Given the description of an element on the screen output the (x, y) to click on. 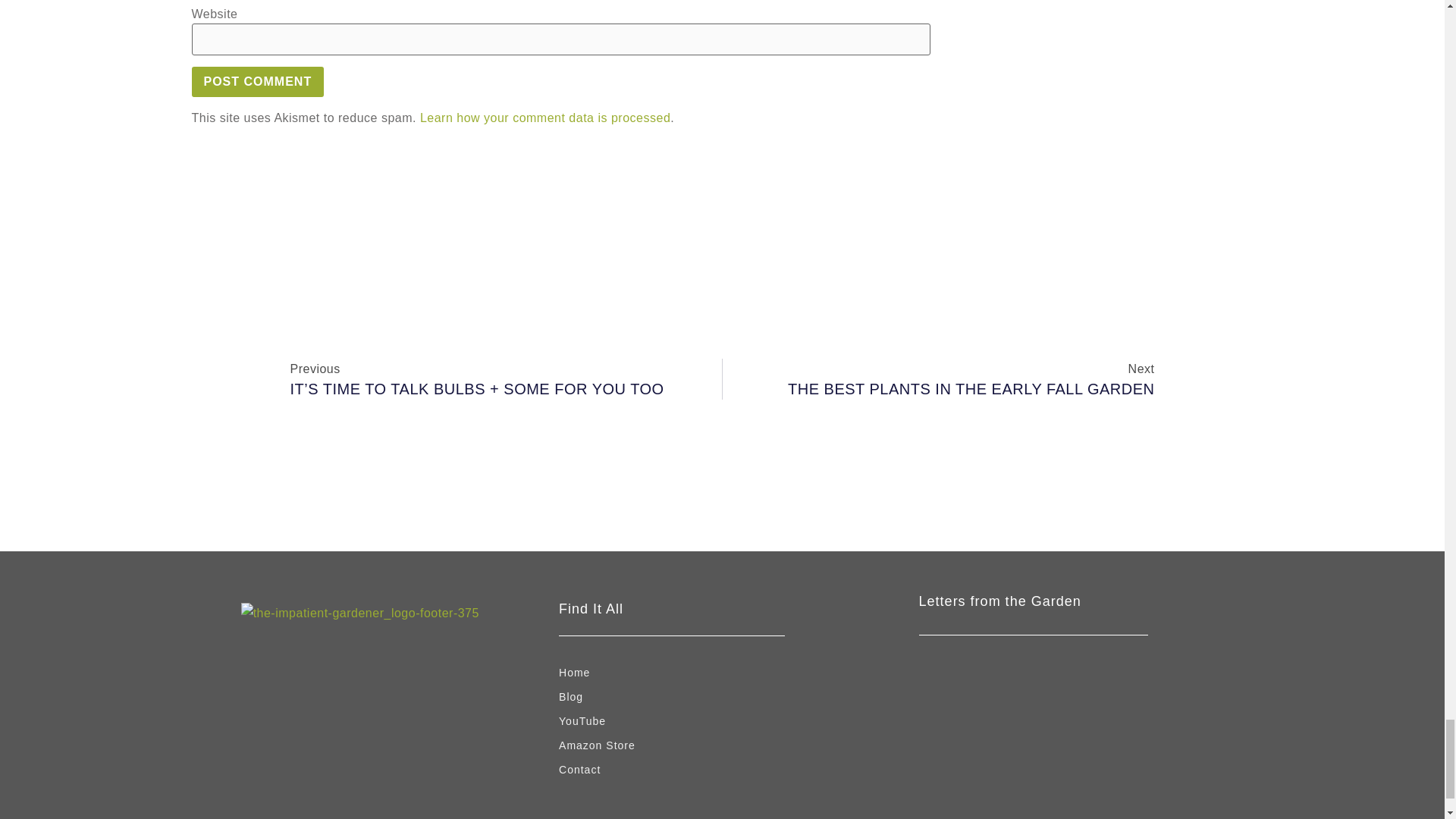
Post Comment (256, 81)
